Given the description of an element on the screen output the (x, y) to click on. 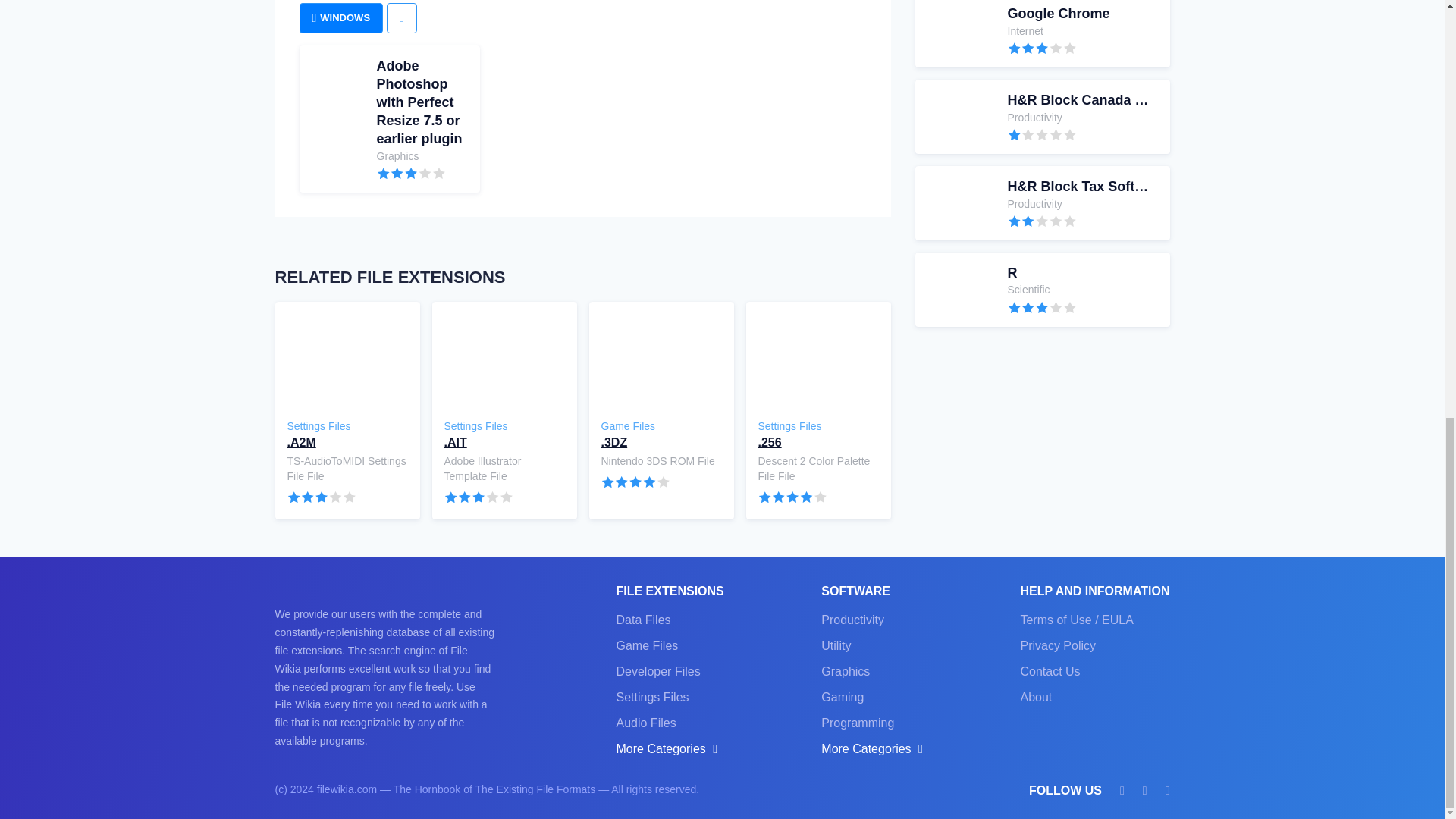
User rating 3.2 (478, 496)
User rating 1.7 (1042, 134)
User rating 2.0 (1042, 220)
User rating 4.0 (1041, 33)
User rating 3.2 (634, 481)
User rating 3.6 (1042, 48)
WINDOWS (321, 496)
User rating 4.0 (1041, 289)
User rating 3.4 (340, 18)
